Given the description of an element on the screen output the (x, y) to click on. 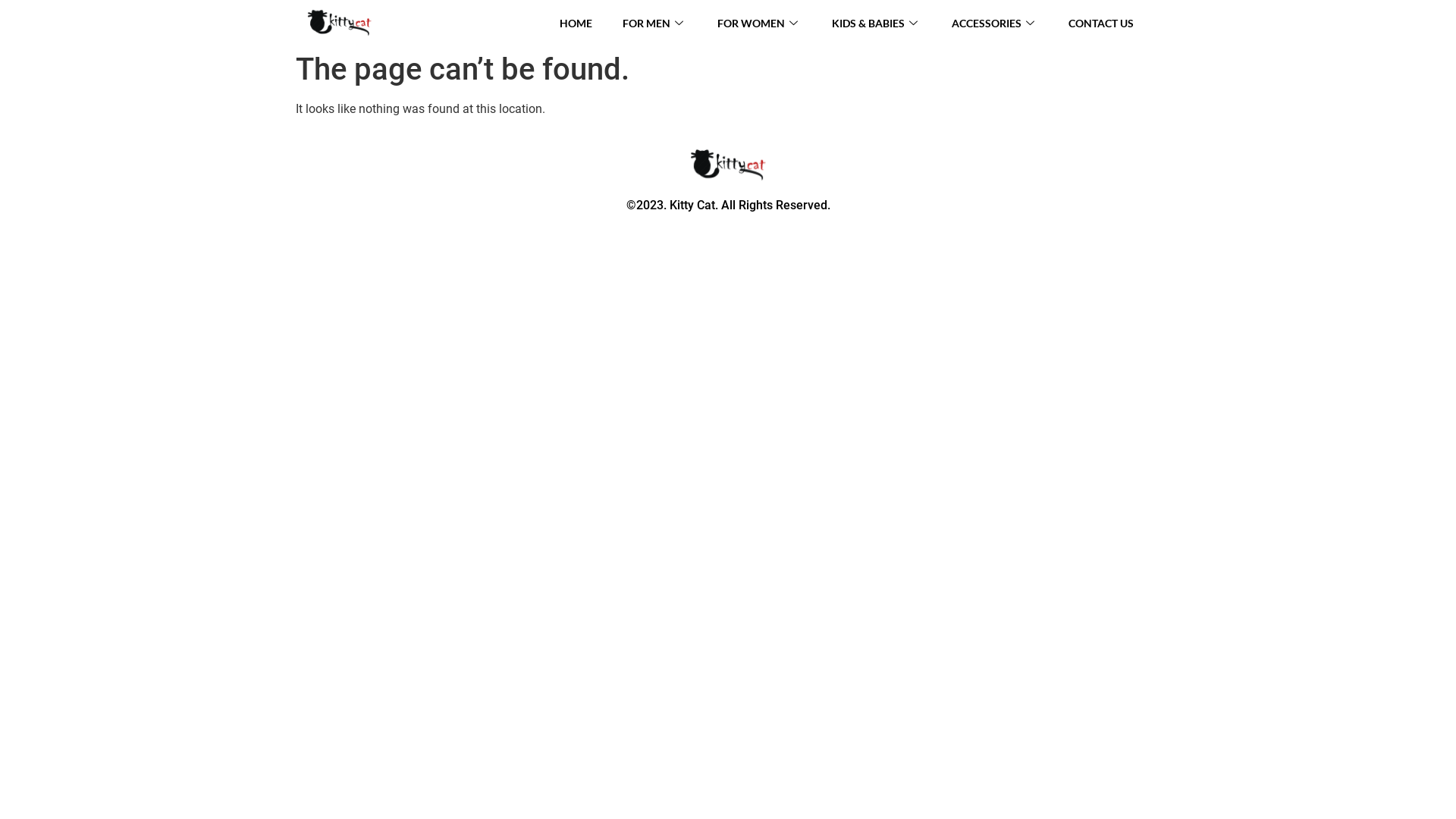
HOME Element type: text (575, 22)
ACCESSORIES Element type: text (994, 22)
FOR WOMEN Element type: text (759, 22)
CONTACT US Element type: text (1100, 22)
FOR MEN Element type: text (654, 22)
KIDS & BABIES Element type: text (876, 22)
